Given the description of an element on the screen output the (x, y) to click on. 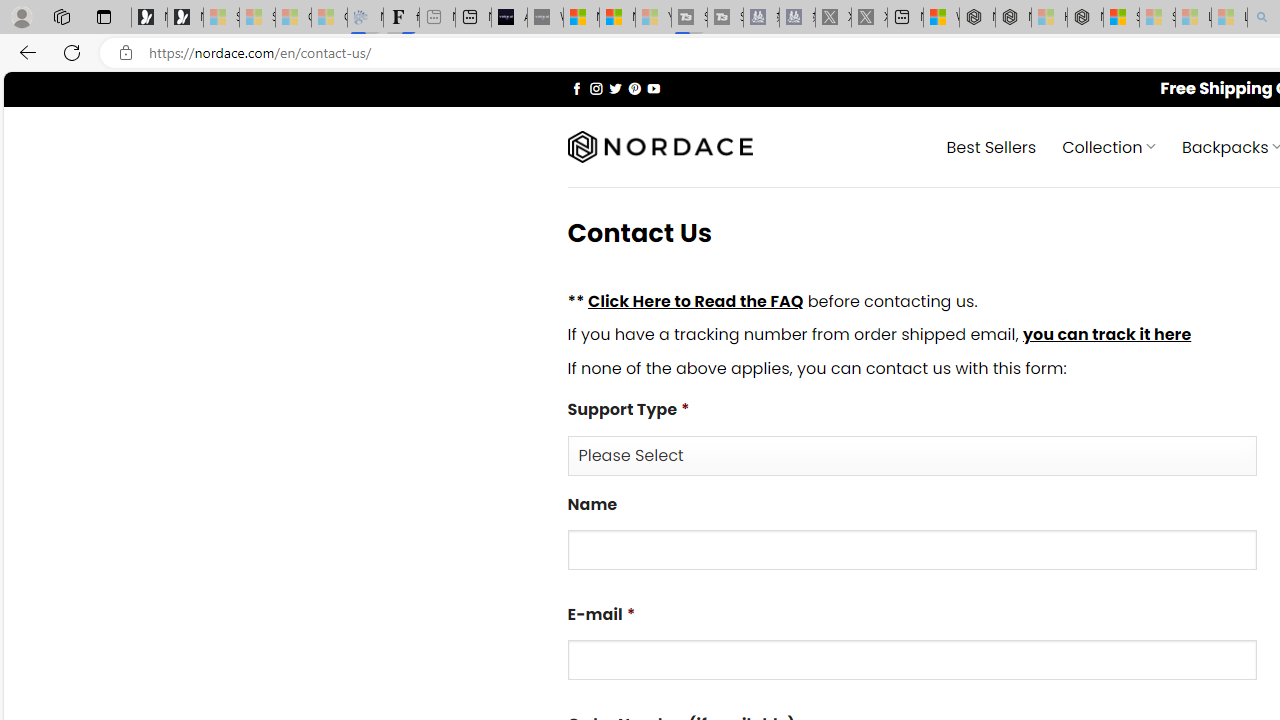
Name (911, 549)
Follow on Instagram (596, 88)
E-mail* (911, 660)
Click Here to Read the FAQ (695, 300)
 Best Sellers (990, 146)
you can track it here (1106, 335)
